Given the description of an element on the screen output the (x, y) to click on. 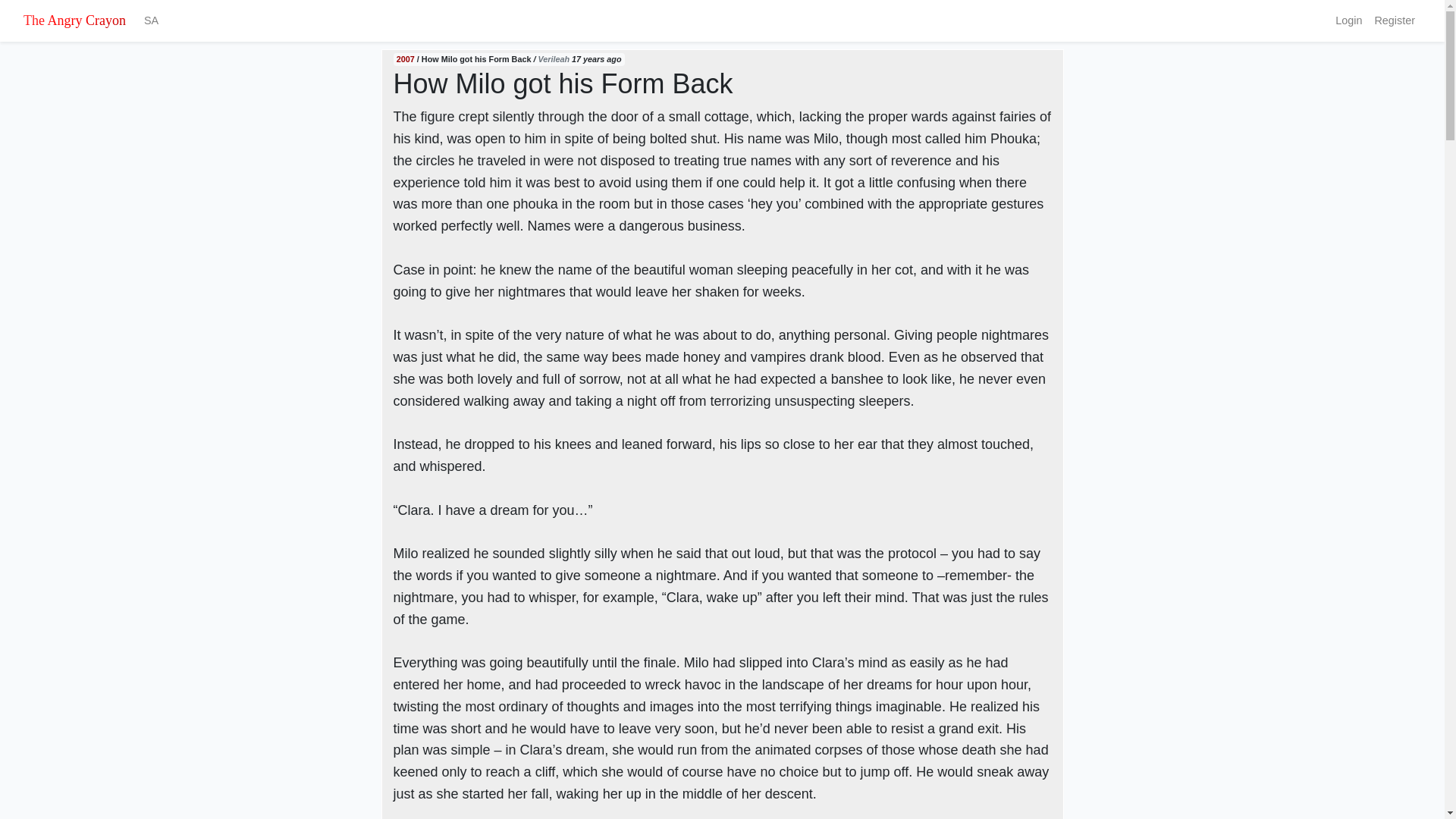
The Angry Crayon (74, 20)
Verileah (553, 58)
2007 (405, 58)
Sanguine Affliction (151, 20)
SA (151, 20)
Login (1348, 20)
Register (1394, 20)
